Given the description of an element on the screen output the (x, y) to click on. 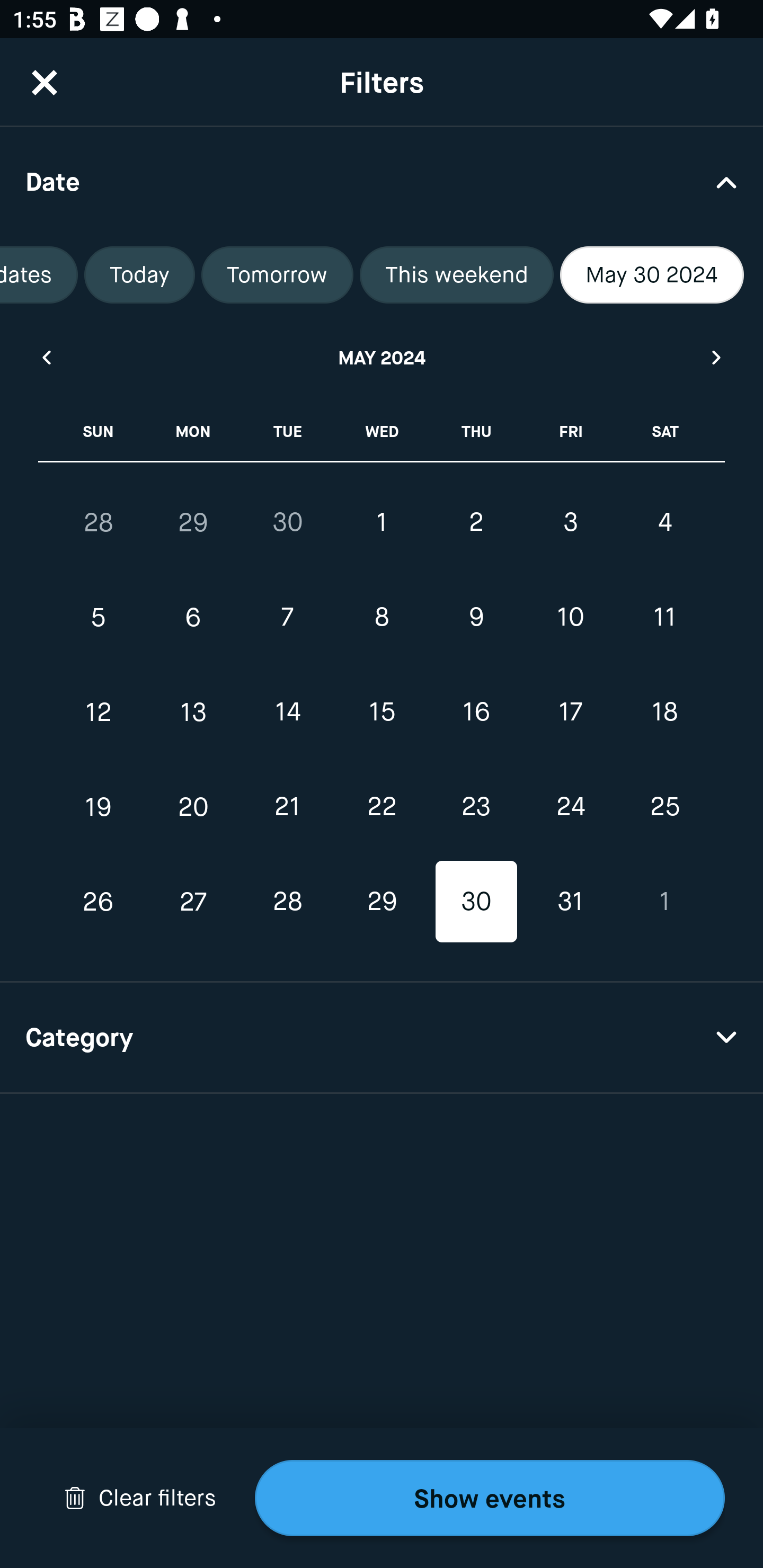
CloseButton (44, 82)
Date Drop Down Arrow (381, 181)
Today (139, 274)
Tomorrow (277, 274)
This weekend (456, 274)
May 30 2024 (651, 274)
Previous (45, 357)
Next (717, 357)
28 (98, 522)
29 (192, 522)
30 (287, 522)
1 (381, 522)
2 (475, 522)
3 (570, 522)
4 (664, 522)
5 (98, 617)
6 (192, 617)
7 (287, 617)
8 (381, 617)
9 (475, 617)
10 (570, 617)
11 (664, 617)
12 (98, 711)
13 (192, 711)
14 (287, 711)
15 (381, 711)
16 (475, 711)
17 (570, 711)
18 (664, 711)
19 (98, 806)
20 (192, 806)
21 (287, 806)
22 (381, 806)
23 (475, 806)
24 (570, 806)
25 (664, 806)
26 (98, 901)
27 (192, 901)
28 (287, 901)
29 (381, 901)
30 (475, 901)
31 (570, 901)
1 (664, 901)
Category Drop Down Arrow (381, 1038)
Drop Down Arrow Clear filters (139, 1497)
Show events (489, 1497)
